Given the description of an element on the screen output the (x, y) to click on. 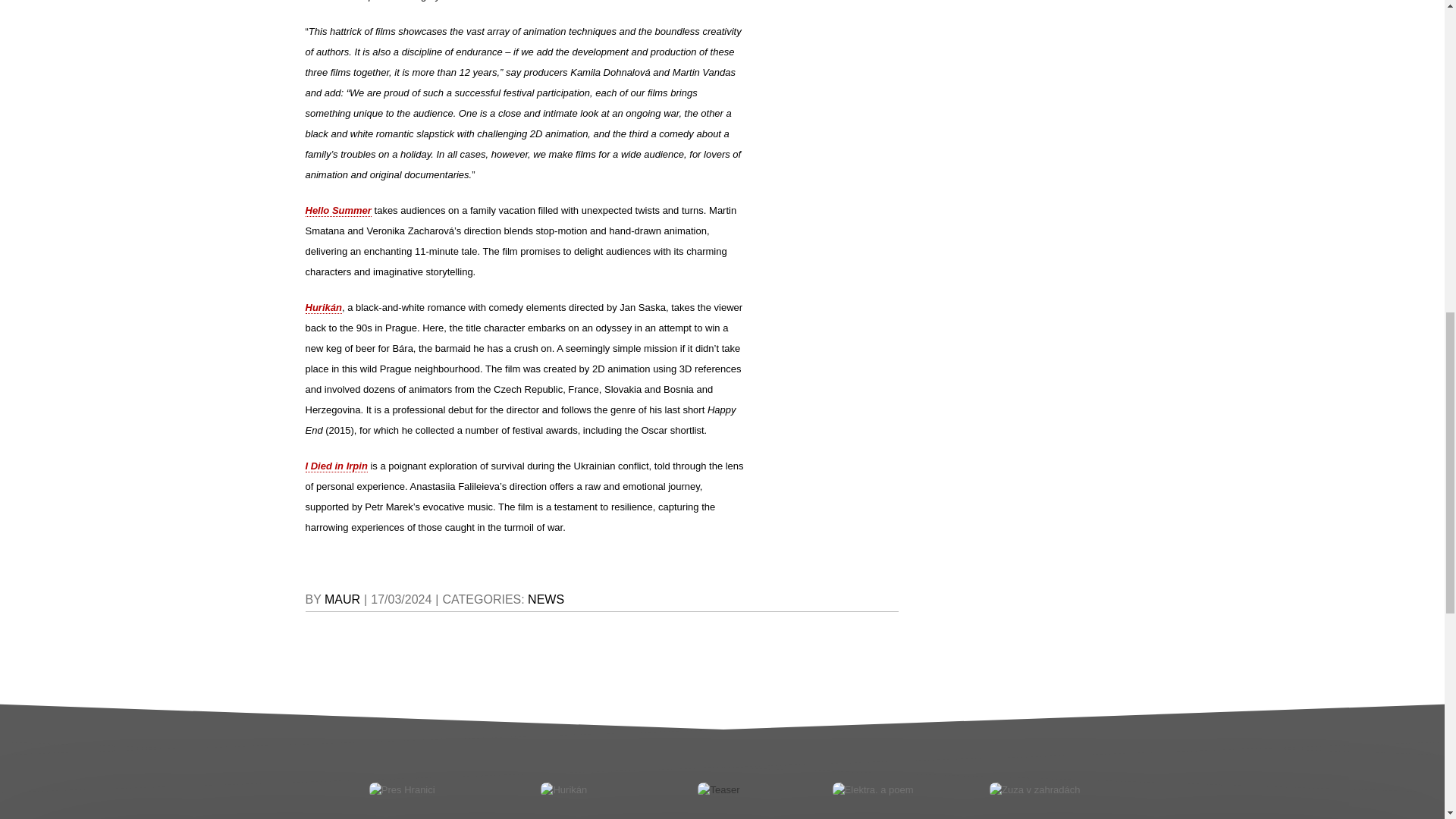
Hello Summer (337, 210)
NEWS (545, 599)
I Died in Irpin (335, 466)
MAUR (341, 599)
Posts by Maur (341, 599)
